Given the description of an element on the screen output the (x, y) to click on. 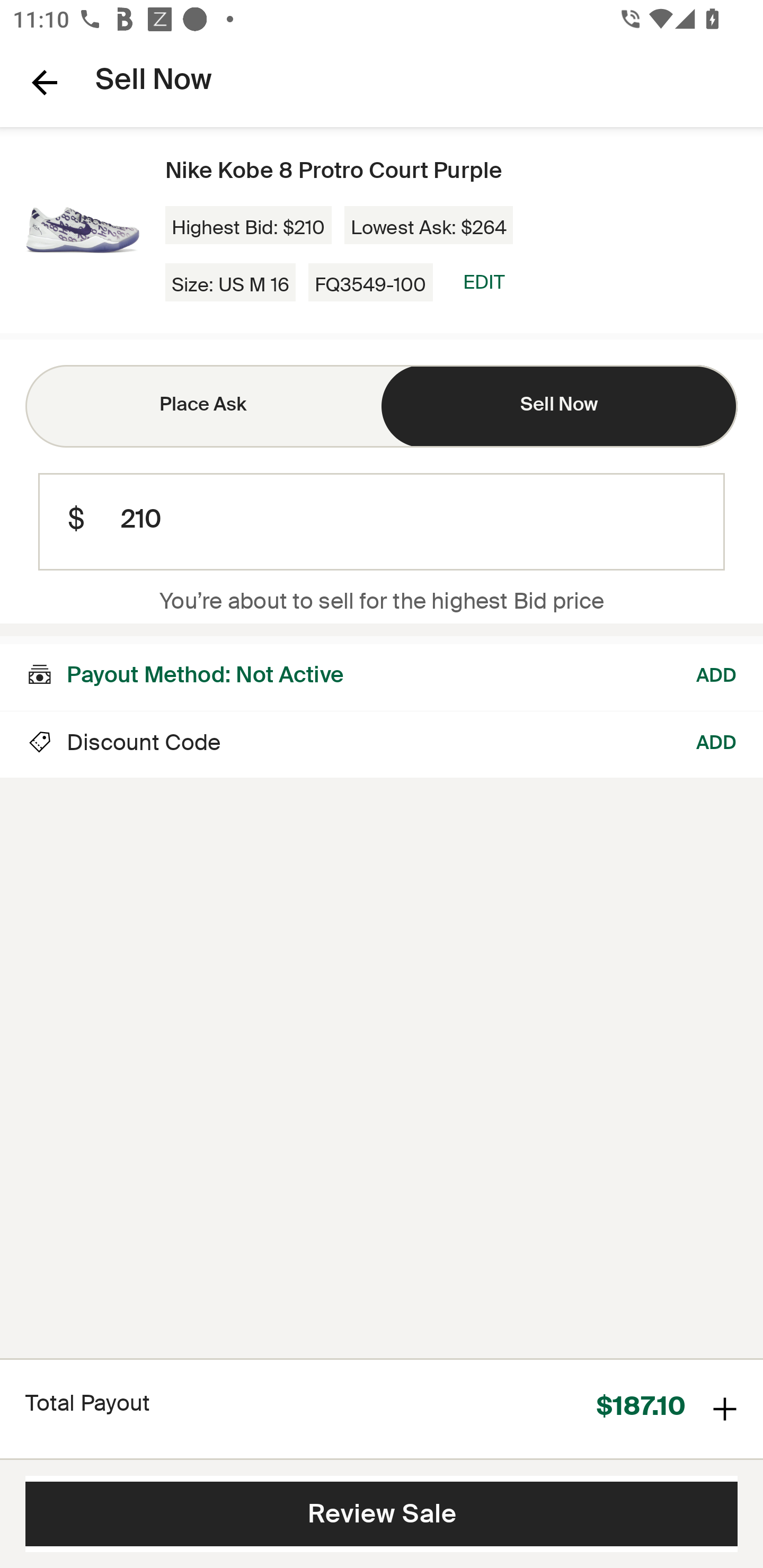
EDIT (483, 281)
Place Ask (203, 405)
Sell Now (559, 405)
210 $ (381, 521)
ADD (717, 673)
Discount icon Discount Code (123, 744)
ADD (717, 744)
Total Payout $187.10 Total Payout plus icon (381, 1407)
reviewButtonContentDescriptionID Review Sale (381, 1513)
